Given the description of an element on the screen output the (x, y) to click on. 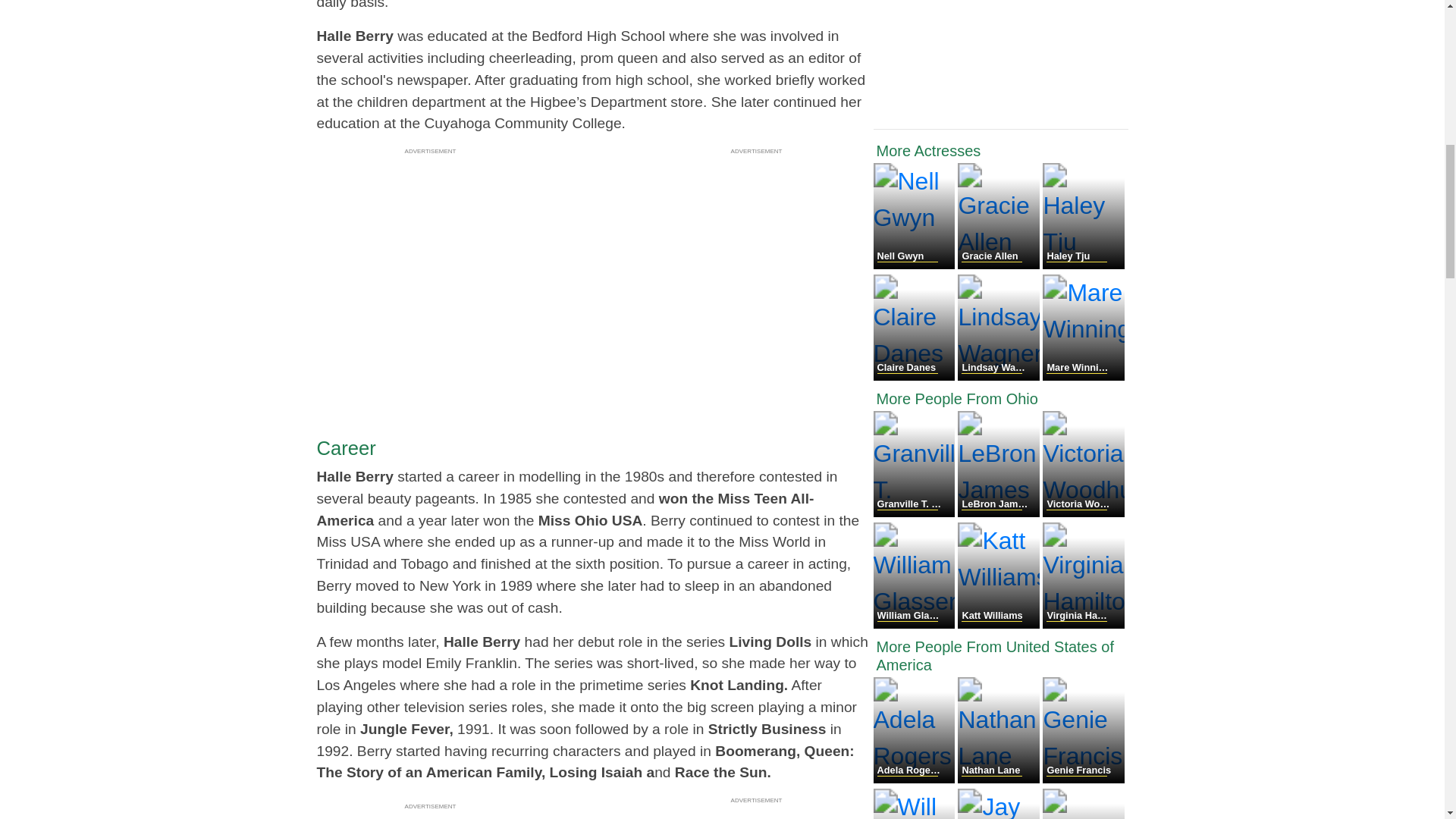
Victoria Woodhull (1083, 512)
Granville T. Woods (915, 512)
More People From United States of America (1000, 656)
Nell Gwyn (915, 264)
More Actresses (1000, 150)
Genie Francis (1083, 779)
Katt Williams (1000, 624)
Virginia Hamilton (1083, 624)
Claire Danes (915, 376)
Gracie Allen (1000, 264)
